Given the description of an element on the screen output the (x, y) to click on. 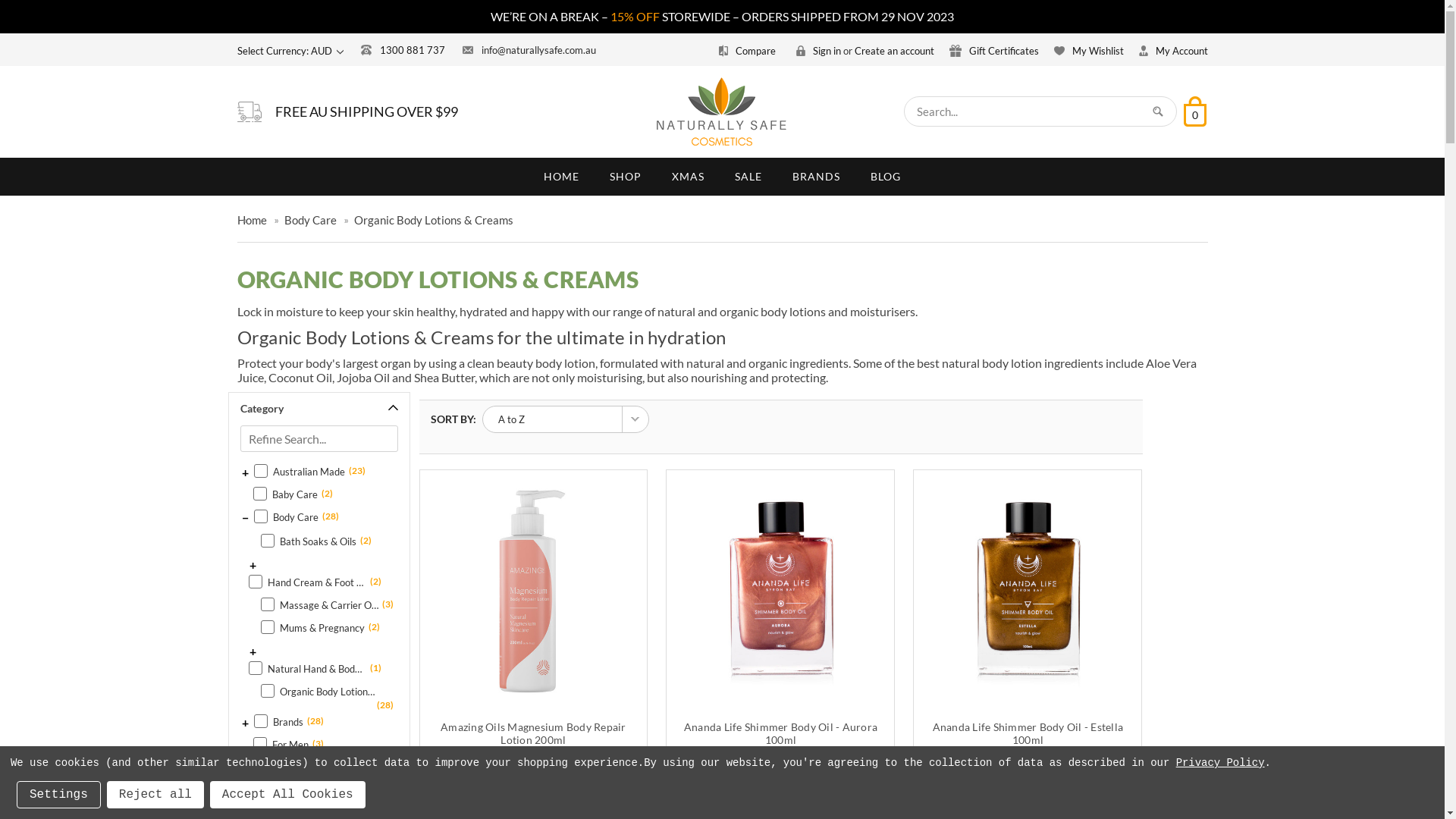
HOME Element type: text (561, 176)
Create an account Element type: text (893, 50)
Settings Element type: text (58, 794)
XMAS Element type: text (687, 176)
Ananda Life Shimmer Body Oil - Estella 100ml Element type: text (1027, 733)
SHOP Element type: text (625, 176)
Privacy Policy Element type: text (1220, 762)
BRANDS Element type: text (816, 176)
SALE Element type: text (748, 176)
Body Care Element type: text (309, 219)
My Wishlist Element type: text (1088, 50)
Naturally Safe Cosmetics Element type: hover (721, 111)
Ananda Life Shimmer Body Oil - Aurora 100ml Element type: text (780, 733)
Organic Body Lotions & Creams Element type: text (432, 219)
Ananda Life Shimmer Body Oil - Estella 100ml Element type: hover (1027, 591)
Amazing Oils Magnesium Body Repair Lotion 200ml Element type: hover (533, 591)
Select Currency: AUD Element type: text (289, 50)
Ananda Life Shimmer Body Oil - Aurora 100ml Element type: hover (780, 591)
Reject all Element type: text (154, 794)
Home Element type: text (251, 219)
Gift Certificates Element type: text (993, 50)
Search Element type: text (1157, 111)
info@naturallysafe.com.au Element type: text (529, 49)
My Account Element type: text (1173, 50)
Sign in Element type: text (818, 50)
0 Element type: text (1194, 111)
BLOG Element type: text (885, 176)
Accept All Cookies Element type: text (287, 794)
Amazing Oils Magnesium Body Repair Lotion 200ml Element type: text (533, 733)
Compare Element type: text (749, 50)
1300 881 737 Element type: text (402, 49)
